Given the description of an element on the screen output the (x, y) to click on. 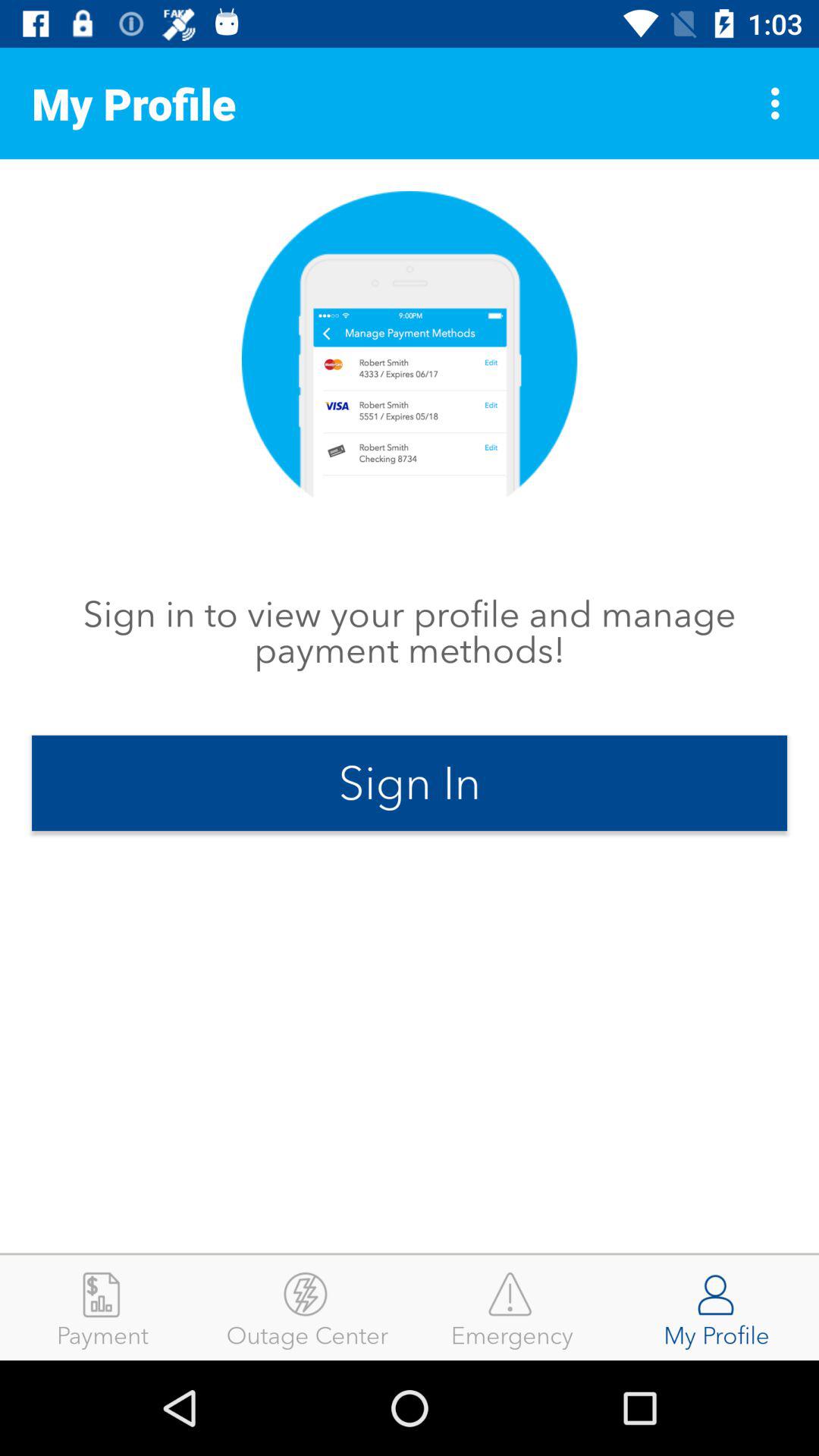
press emergency (511, 1307)
